Given the description of an element on the screen output the (x, y) to click on. 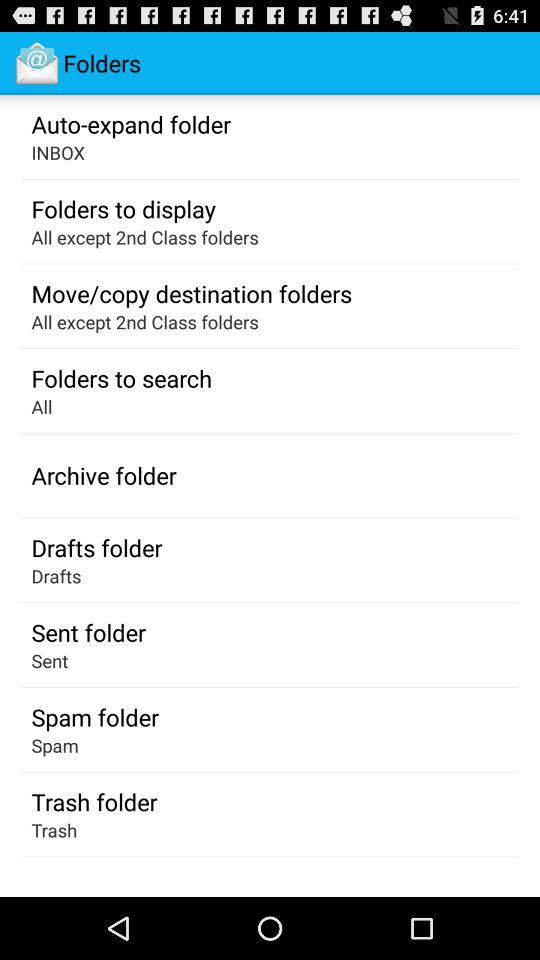
open trash folder item (94, 801)
